Given the description of an element on the screen output the (x, y) to click on. 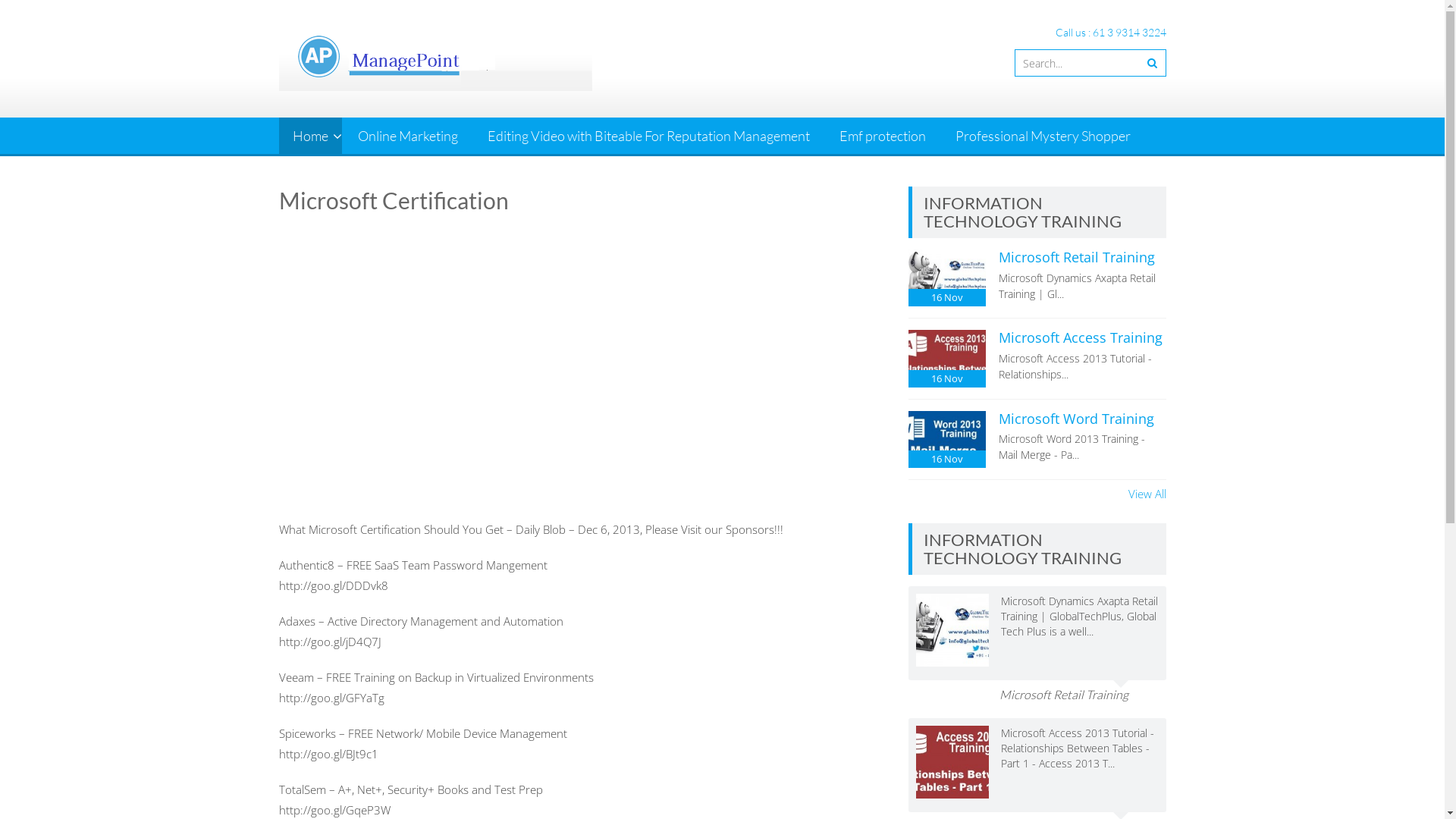
16 Nov Element type: text (946, 277)
Online Marketing Element type: text (407, 135)
16 Nov Element type: text (946, 439)
Editing Video with Biteable For Reputation Management Element type: text (647, 135)
Professional Mystery Shopper Element type: text (1042, 135)
Microsoft Access Training Element type: text (1080, 337)
Microsoft Word Training Element type: text (1076, 418)
16 Nov Element type: text (946, 357)
Emf protection Element type: text (881, 135)
Home Element type: text (310, 135)
View All Element type: text (1147, 493)
Microsoft Retail Training Element type: text (1076, 256)
